Given the description of an element on the screen output the (x, y) to click on. 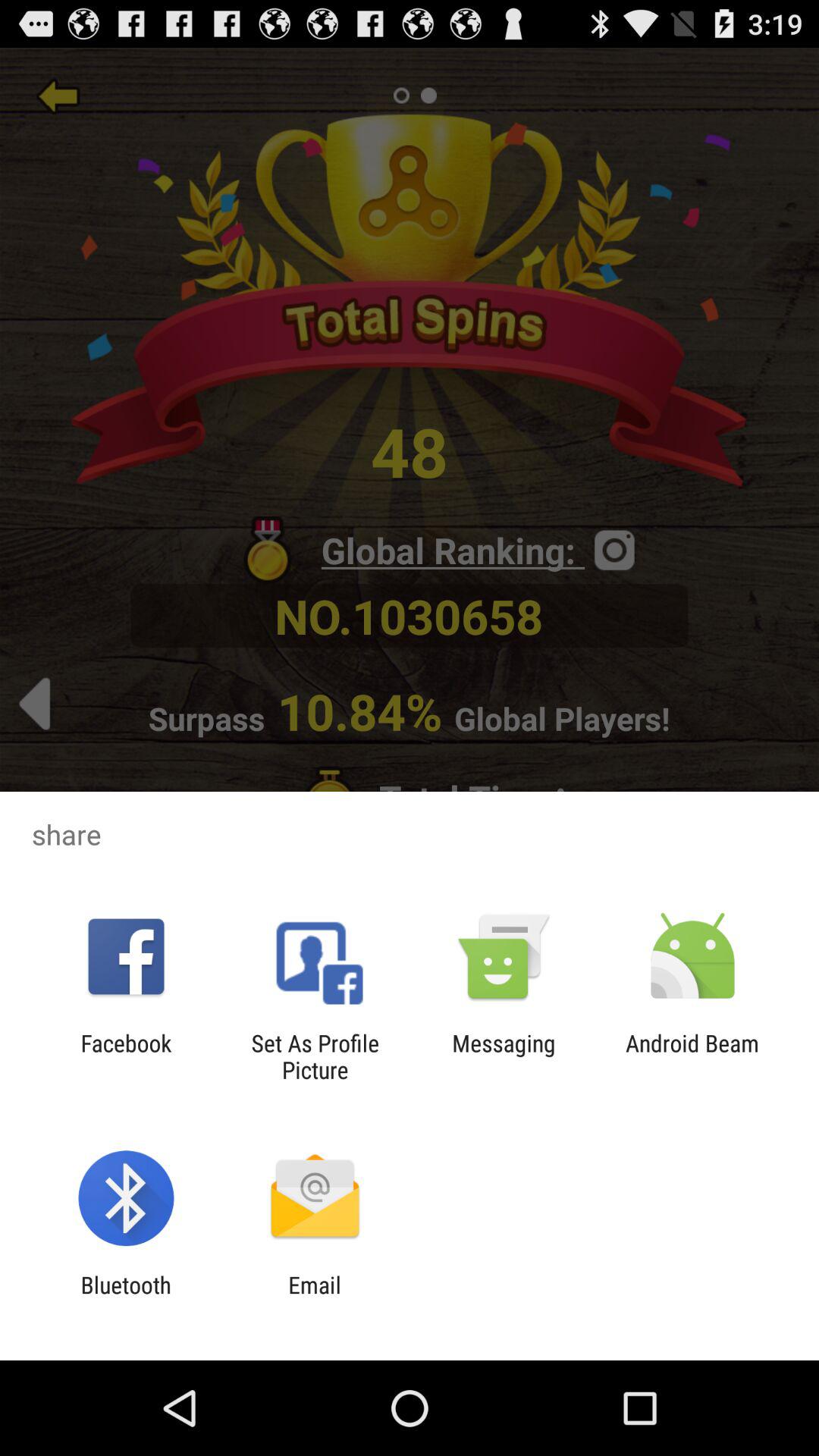
select item to the left of the email app (125, 1298)
